Given the description of an element on the screen output the (x, y) to click on. 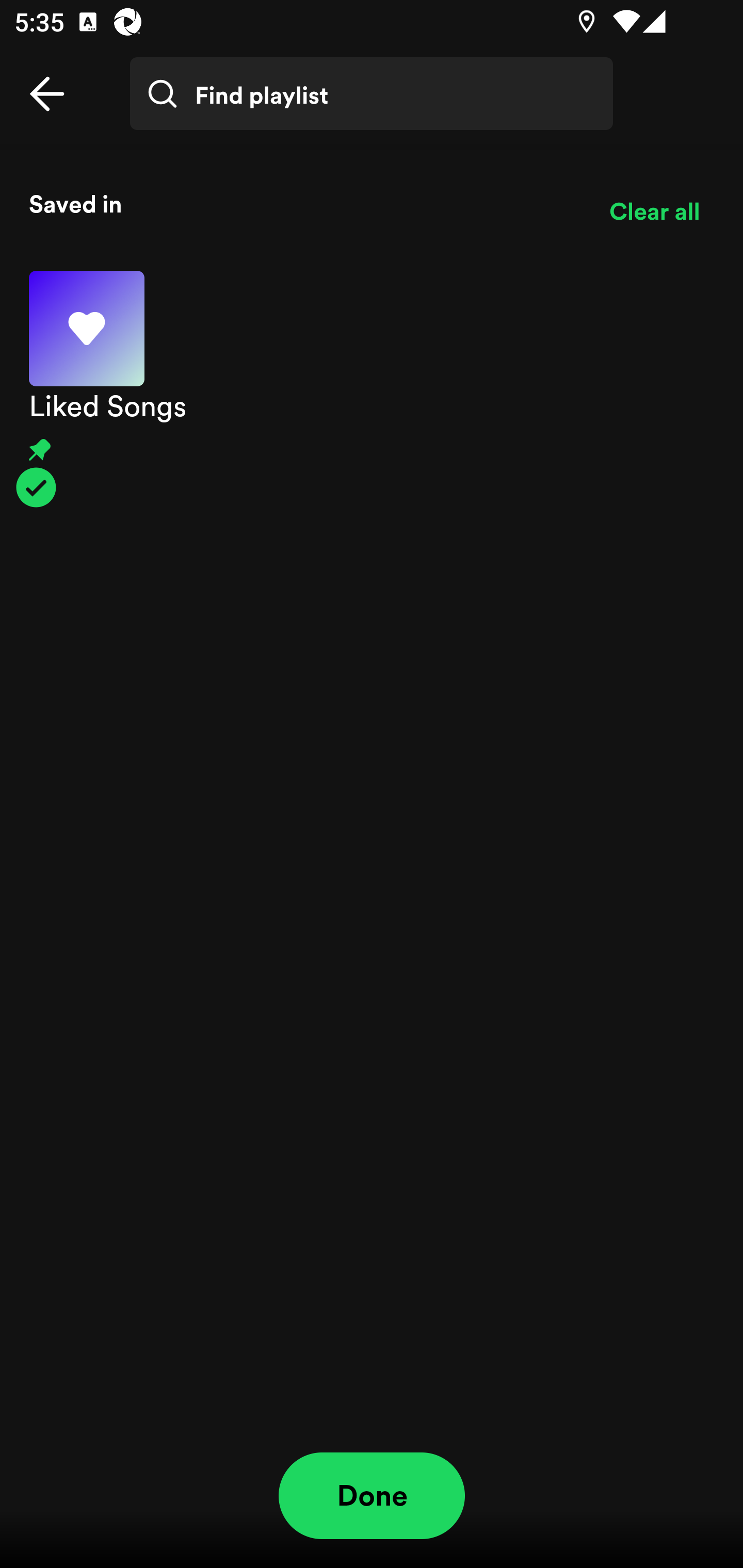
Back (46, 93)
Find playlist (371, 94)
Saved in (304, 203)
Clear all (654, 211)
Liked Songs Pinned (371, 389)
Done (371, 1495)
